Given the description of an element on the screen output the (x, y) to click on. 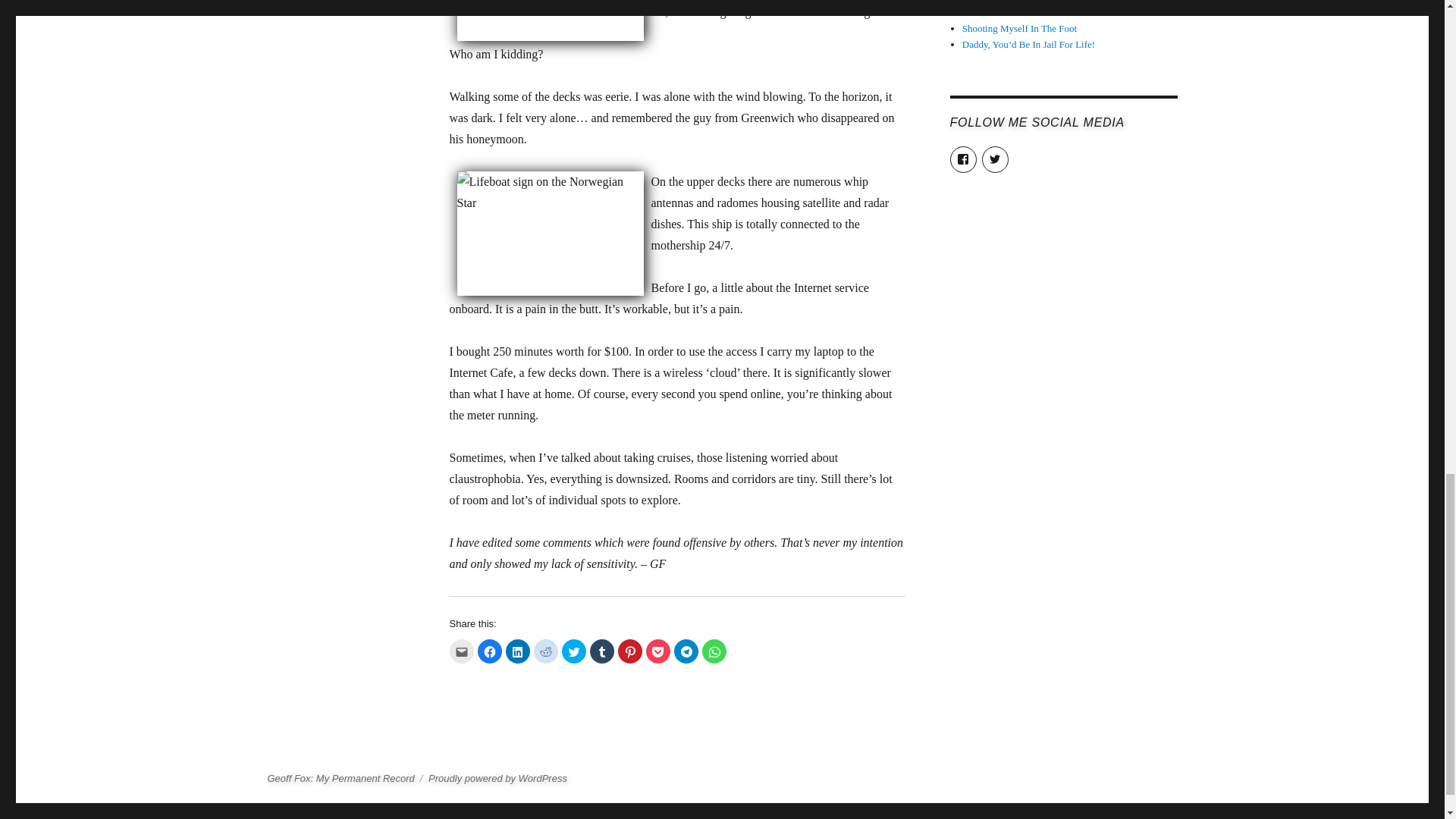
Click to share on LinkedIn (517, 651)
Click to email this to a friend (460, 651)
Click to share on Pocket (657, 651)
Click to share on WhatsApp (713, 651)
Click to share on Pinterest (629, 651)
Shooting Myself In The Foot (1019, 28)
Broken Glasses (992, 12)
Click to share on Tumblr (601, 651)
Click to share on Facebook (489, 651)
I Make The Maps (997, 1)
Click to share on Twitter (572, 651)
Click to share on Reddit (545, 651)
Click to share on Telegram (684, 651)
